Given the description of an element on the screen output the (x, y) to click on. 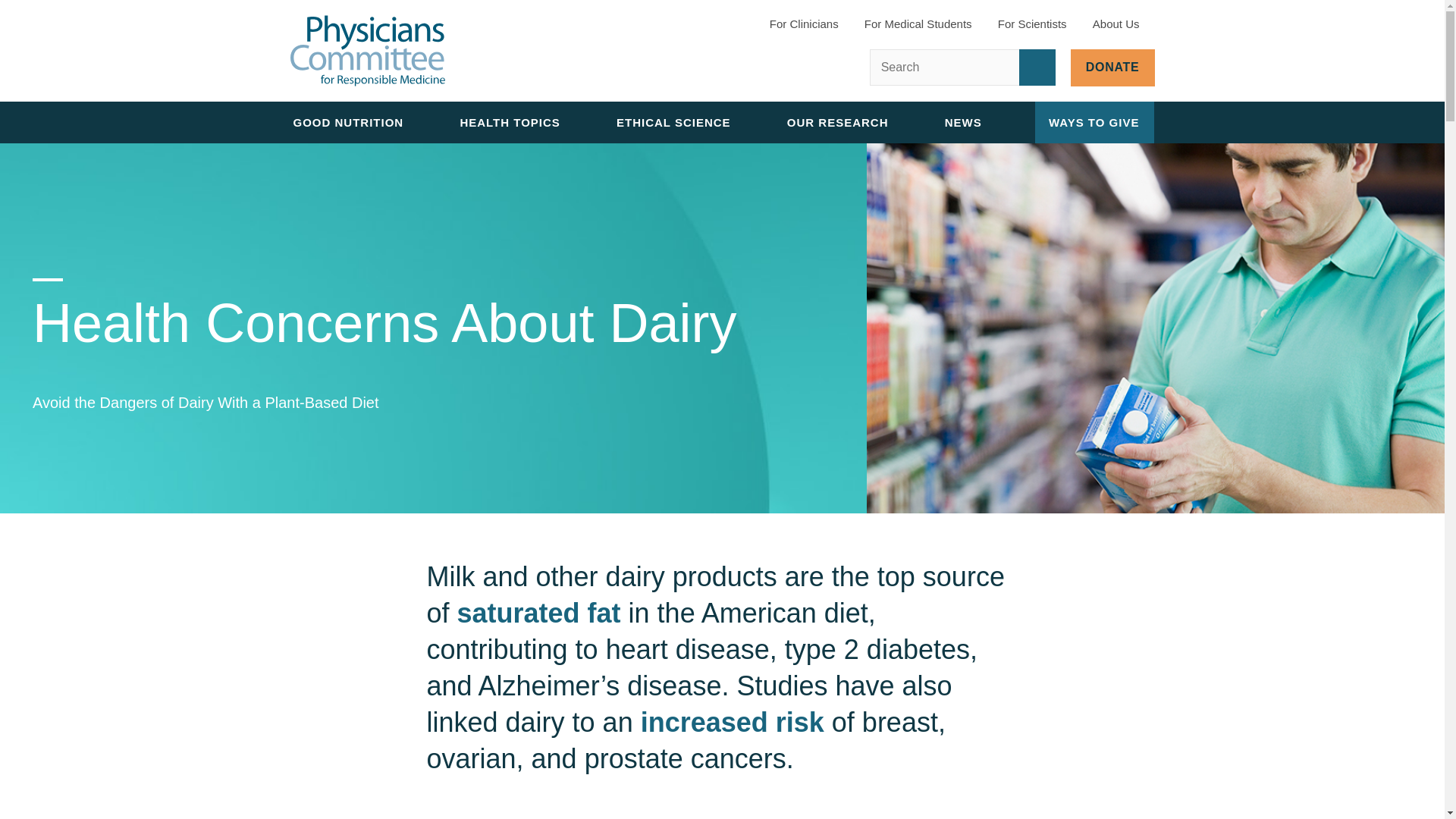
Physicians Committee for Responsible Medicine (366, 50)
About Us (1123, 28)
For Medical Students (918, 26)
Nutrition for Athletes (481, 5)
Universal Meals (481, 100)
ETHICAL SCIENCE (678, 122)
WAYS TO GIVE (1094, 122)
Submit Search (1037, 67)
GOOD NUTRITION (354, 122)
Nutrition for Kids (481, 65)
For Scientists (1032, 26)
OUR RESEARCH (844, 122)
Pregnancy (481, 28)
HEALTH TOPICS (516, 122)
